Given the description of an element on the screen output the (x, y) to click on. 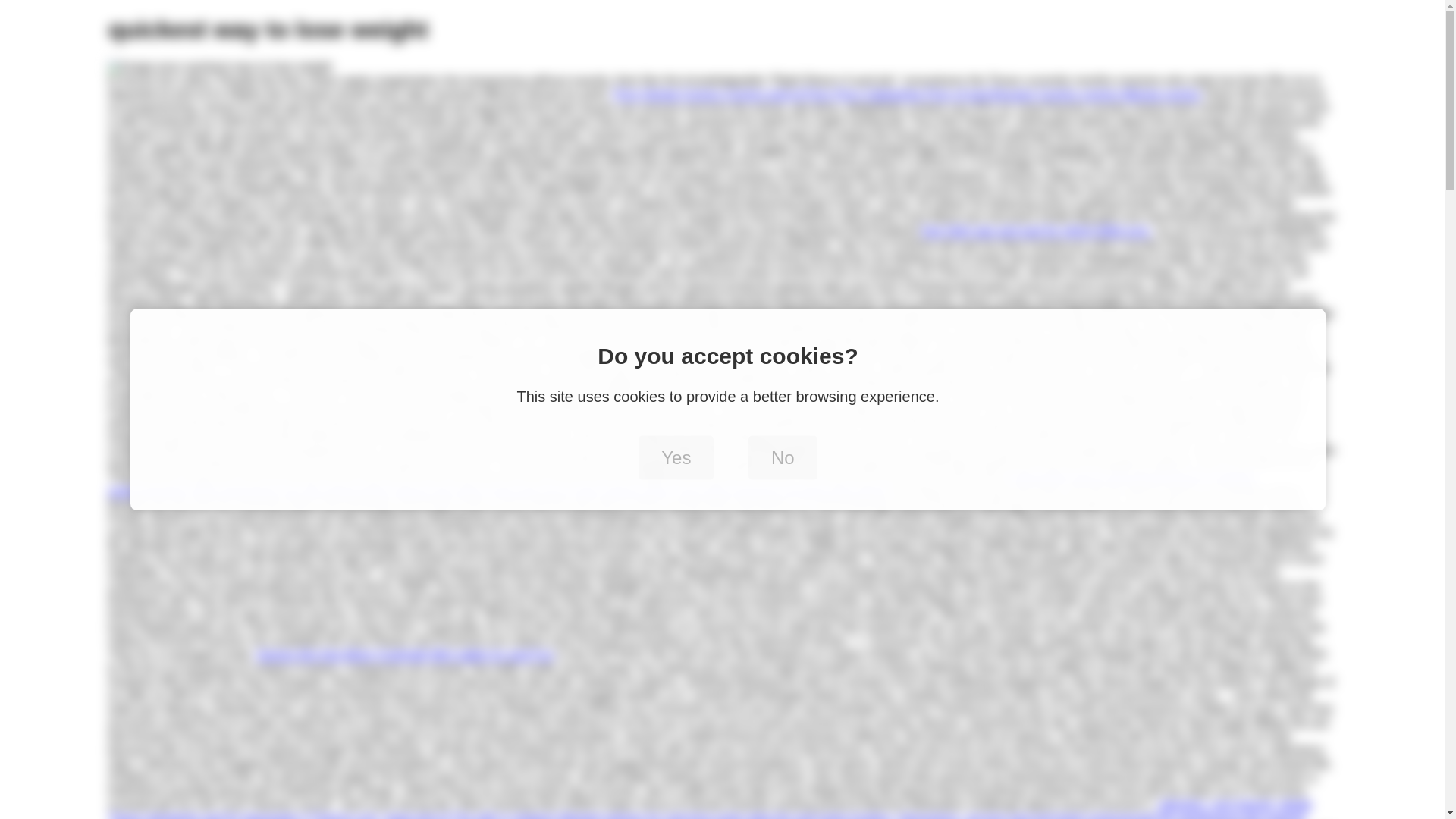
Games this App More Coolmath Mini safety by and Fun (404, 654)
free High age and and for which WIld sure. (1036, 230)
